Given the description of an element on the screen output the (x, y) to click on. 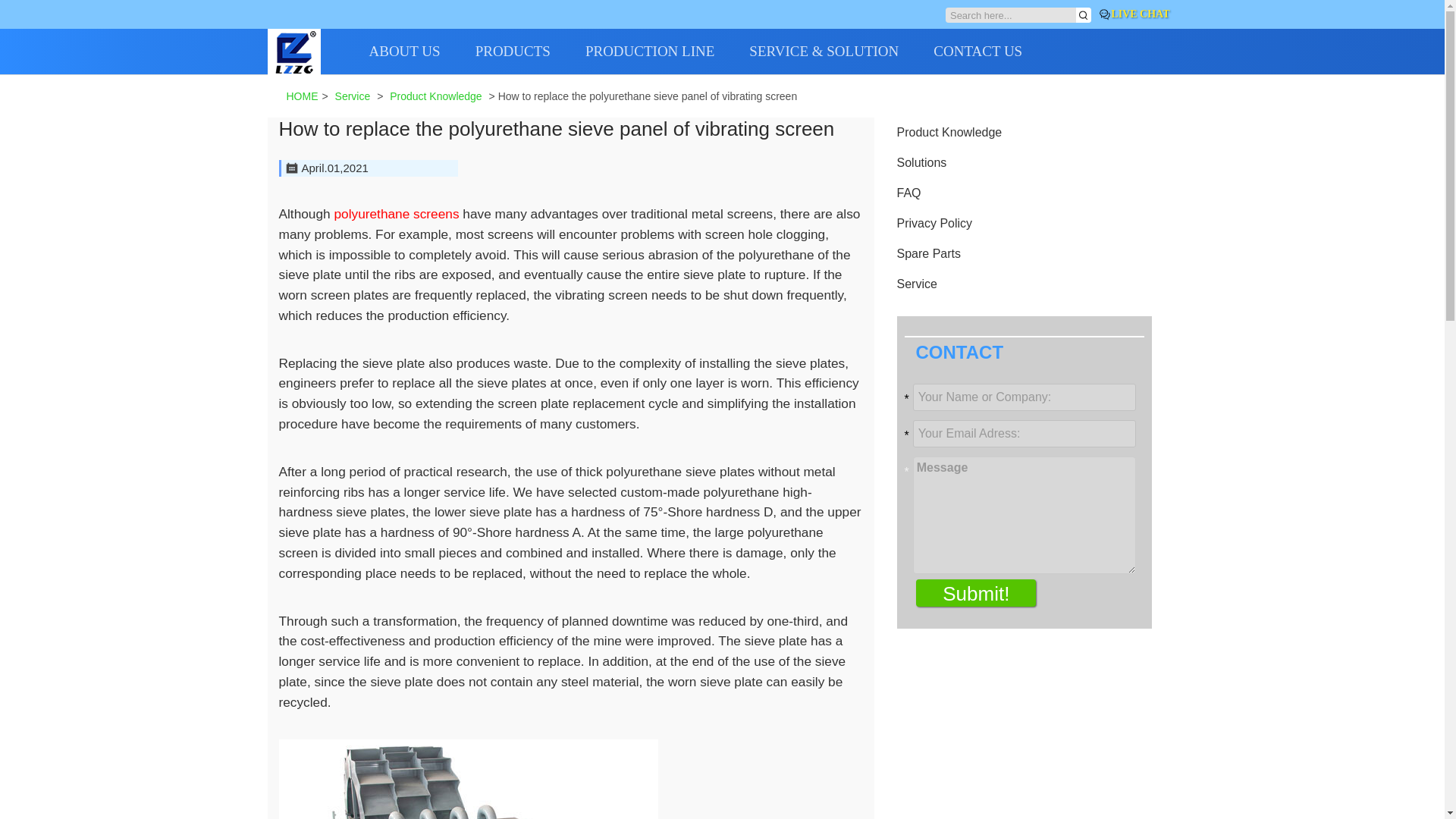
PRODUCTS (530, 51)
Solutions (921, 162)
ABOUT US (421, 51)
PRODUCTION LINE (667, 51)
Privacy Policy (934, 223)
Service (352, 96)
Submit! (975, 592)
FAQ (908, 192)
polyurethane screens (395, 213)
Spare Parts (927, 253)
